Given the description of an element on the screen output the (x, y) to click on. 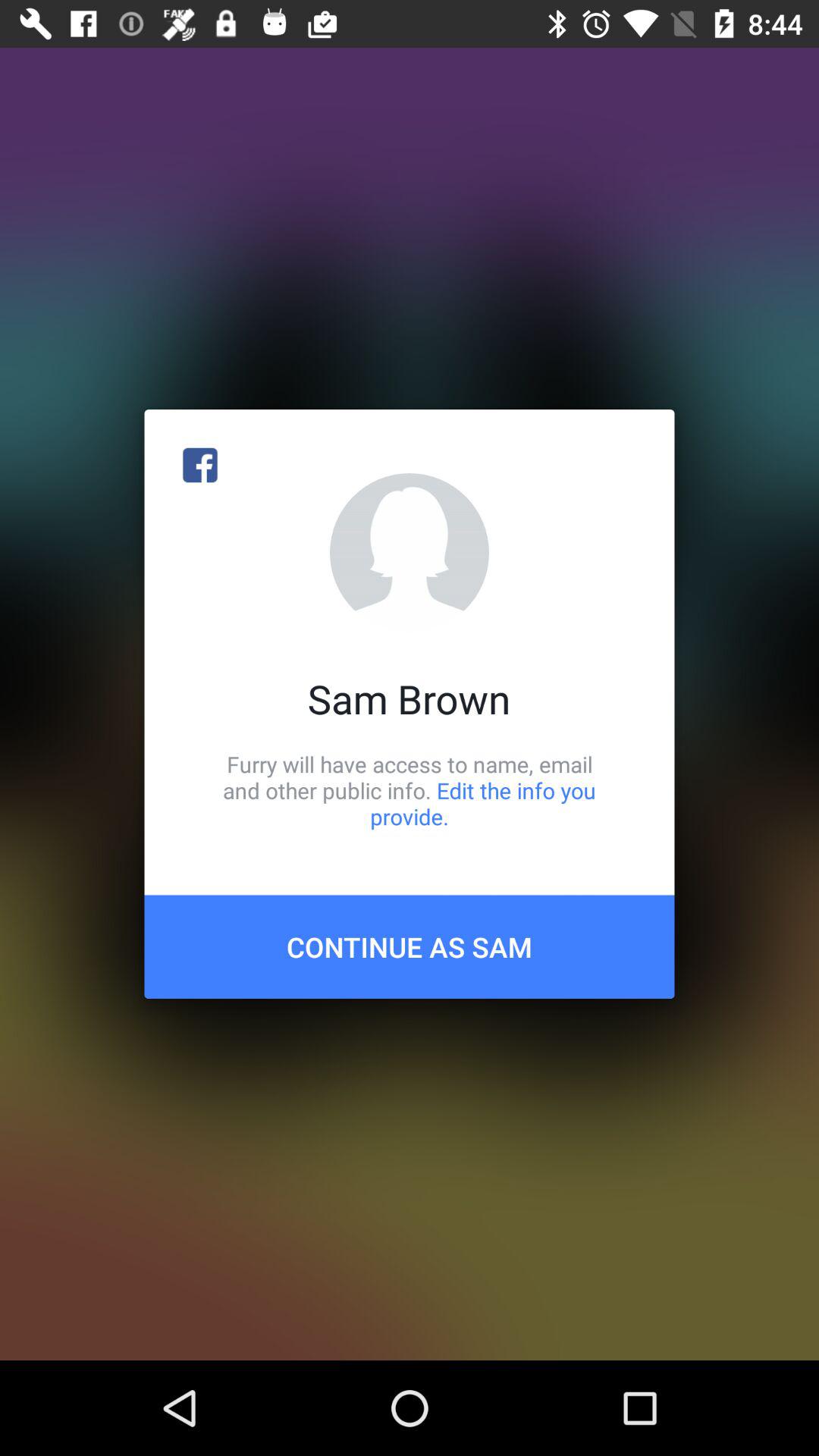
open the continue as sam (409, 946)
